Given the description of an element on the screen output the (x, y) to click on. 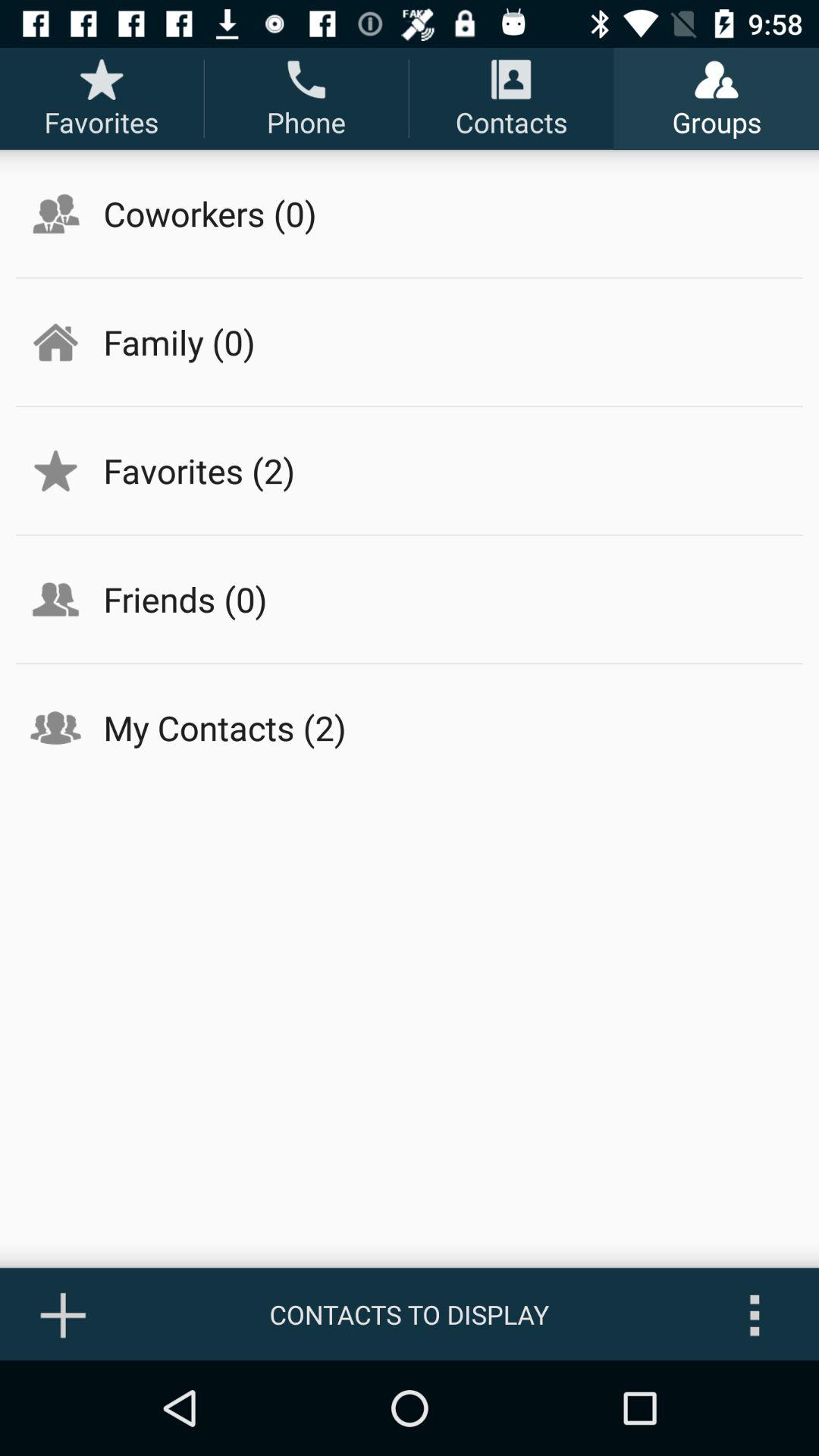
select the item at the bottom left corner (63, 1314)
